Given the description of an element on the screen output the (x, y) to click on. 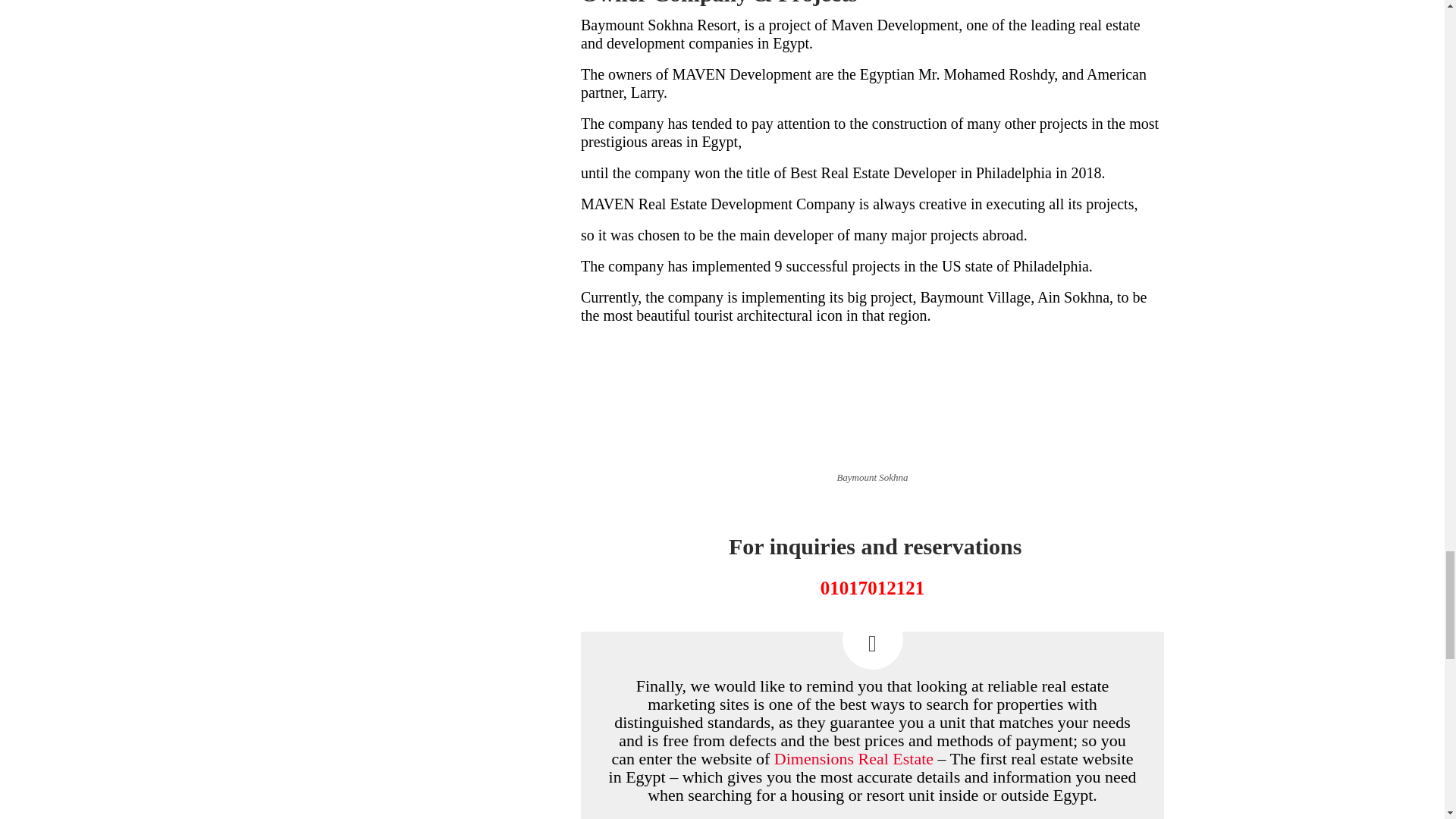
Dimensions Real Estate (853, 758)
